Given the description of an element on the screen output the (x, y) to click on. 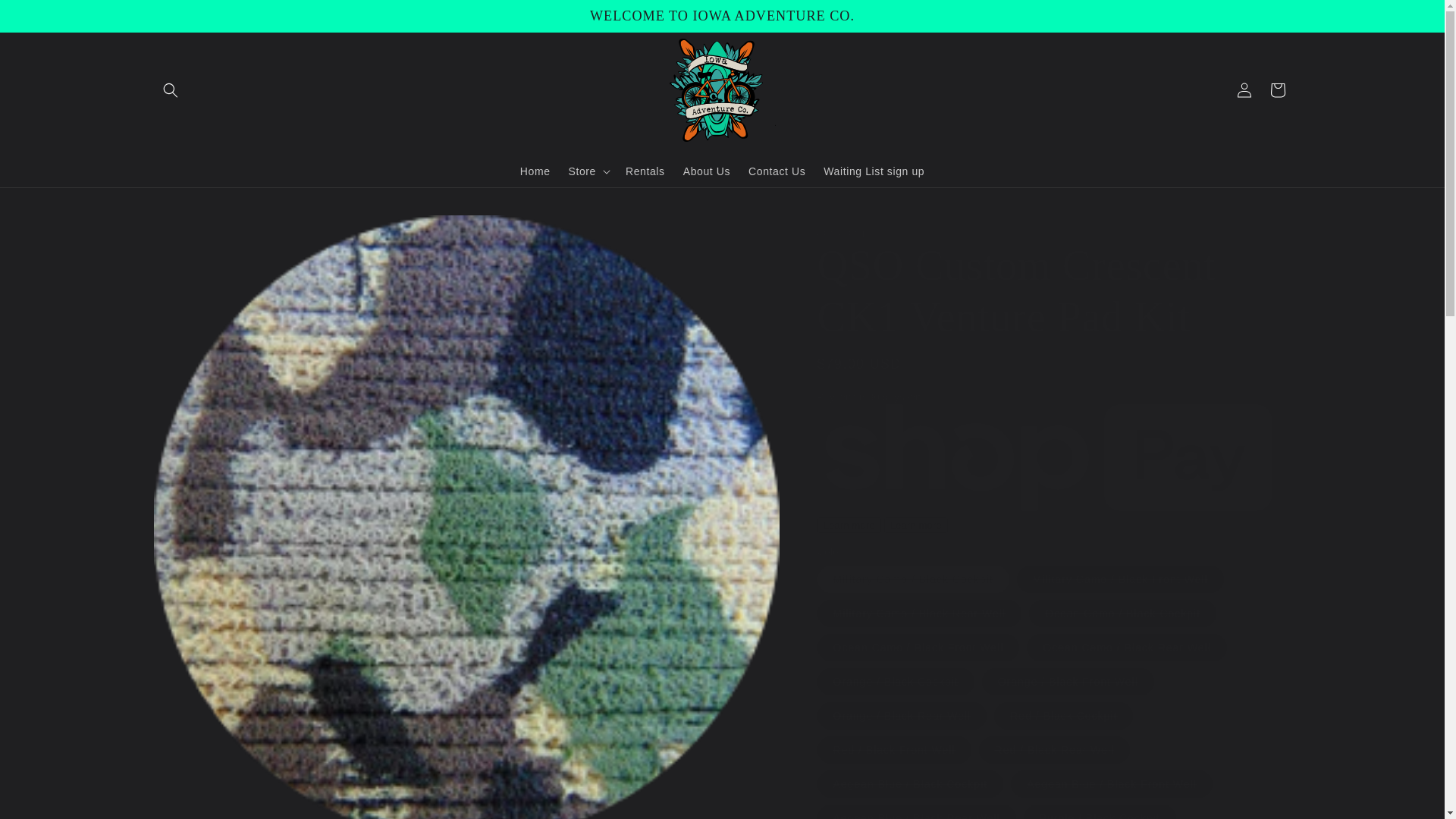
Home (535, 171)
Skip to content (45, 17)
